Given the description of an element on the screen output the (x, y) to click on. 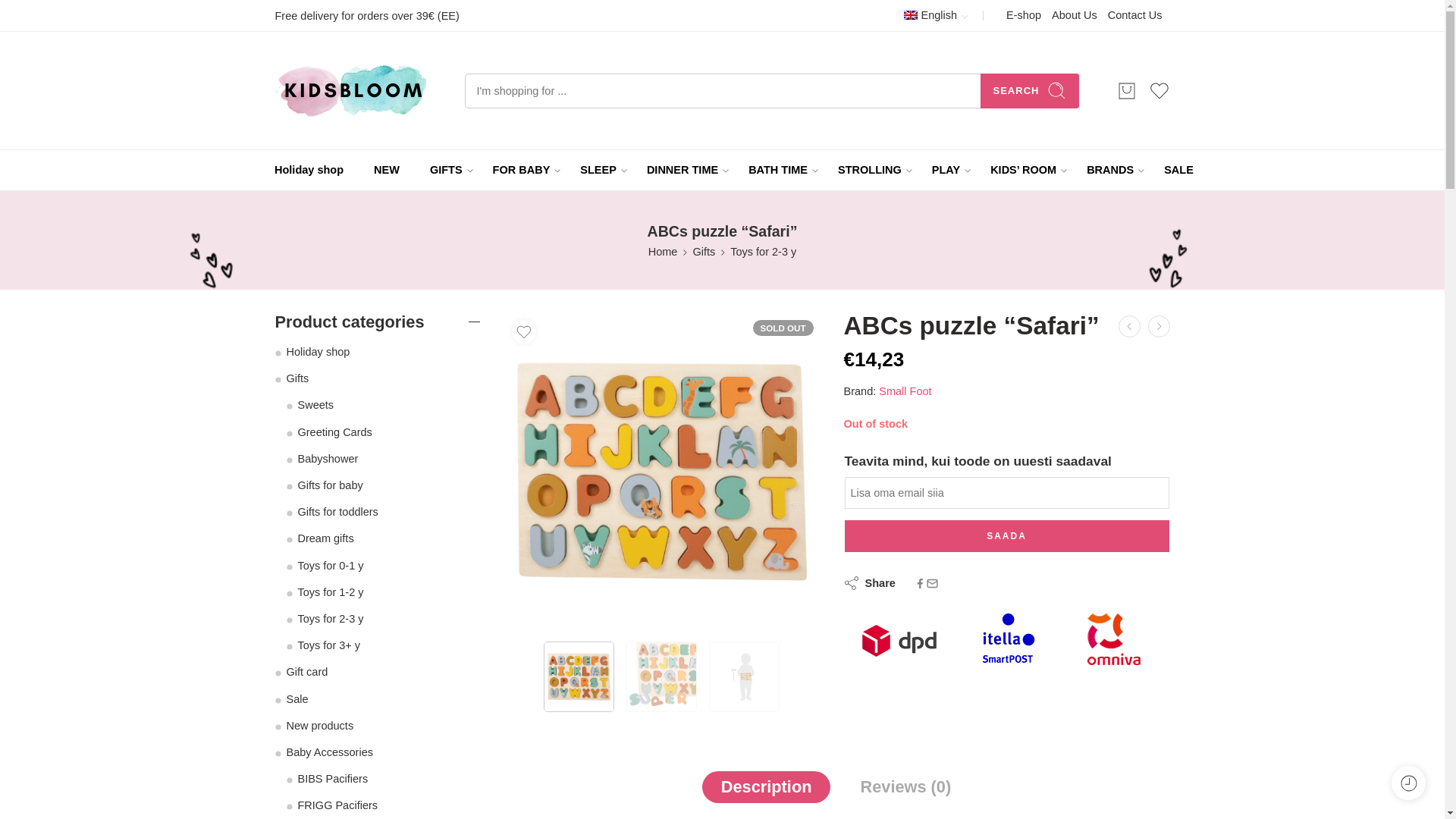
Small Foot (905, 391)
Contact Us (1134, 15)
Holiday shop (309, 169)
Saada (1006, 536)
SLEEP (597, 169)
About Us (1074, 15)
Wishlist (1158, 90)
Holiday shop (309, 169)
BRANDS (1110, 169)
STROLLING (869, 169)
